Given the description of an element on the screen output the (x, y) to click on. 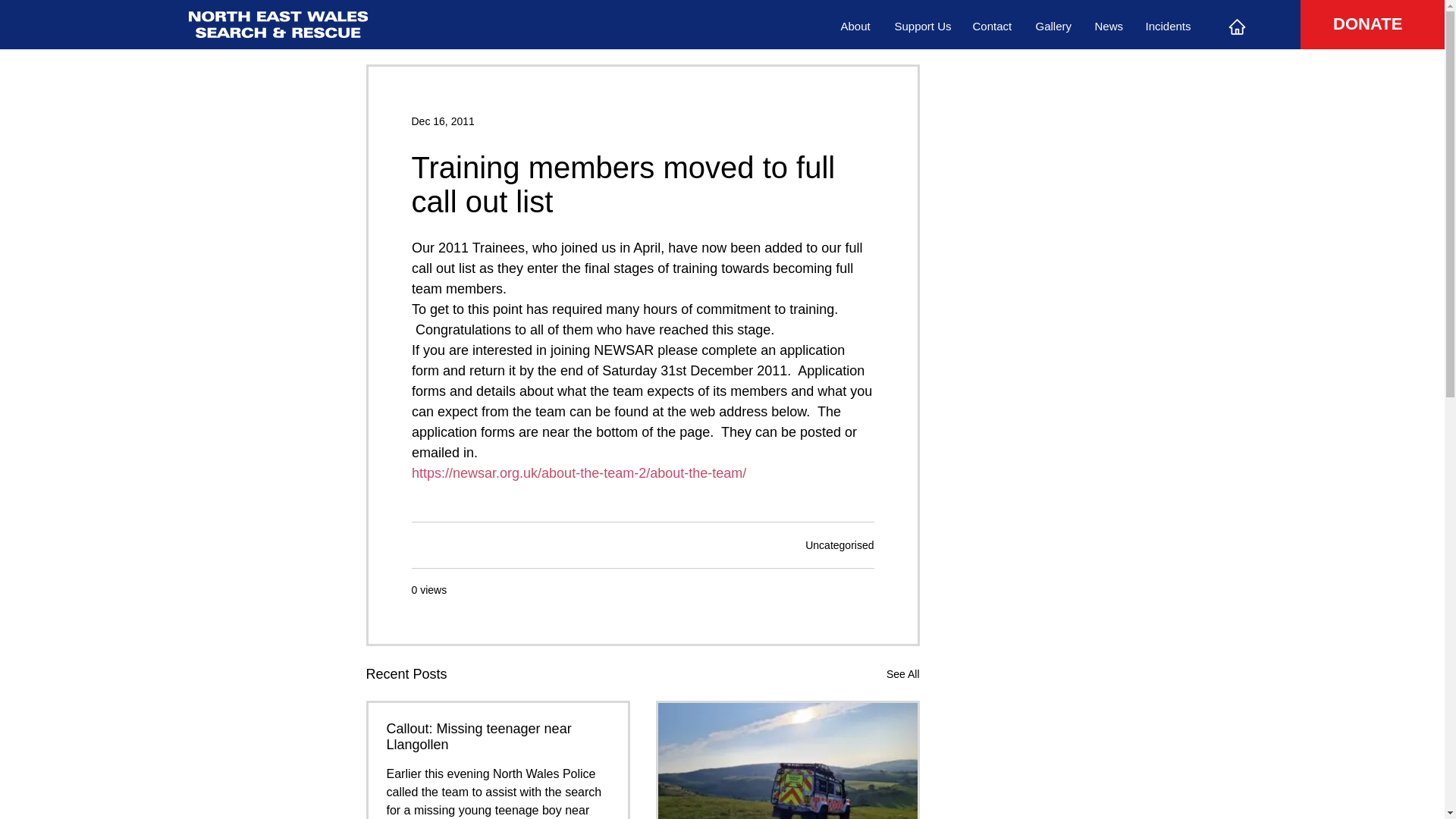
Contact (992, 26)
Gallery (1053, 26)
Support Us (921, 26)
About (856, 26)
Callout: Missing teenager near Llangollen (498, 736)
News (1108, 26)
DONATE (1367, 24)
See All (903, 674)
Uncategorised (839, 544)
Dec 16, 2011 (442, 121)
Incidents (1168, 26)
